Given the description of an element on the screen output the (x, y) to click on. 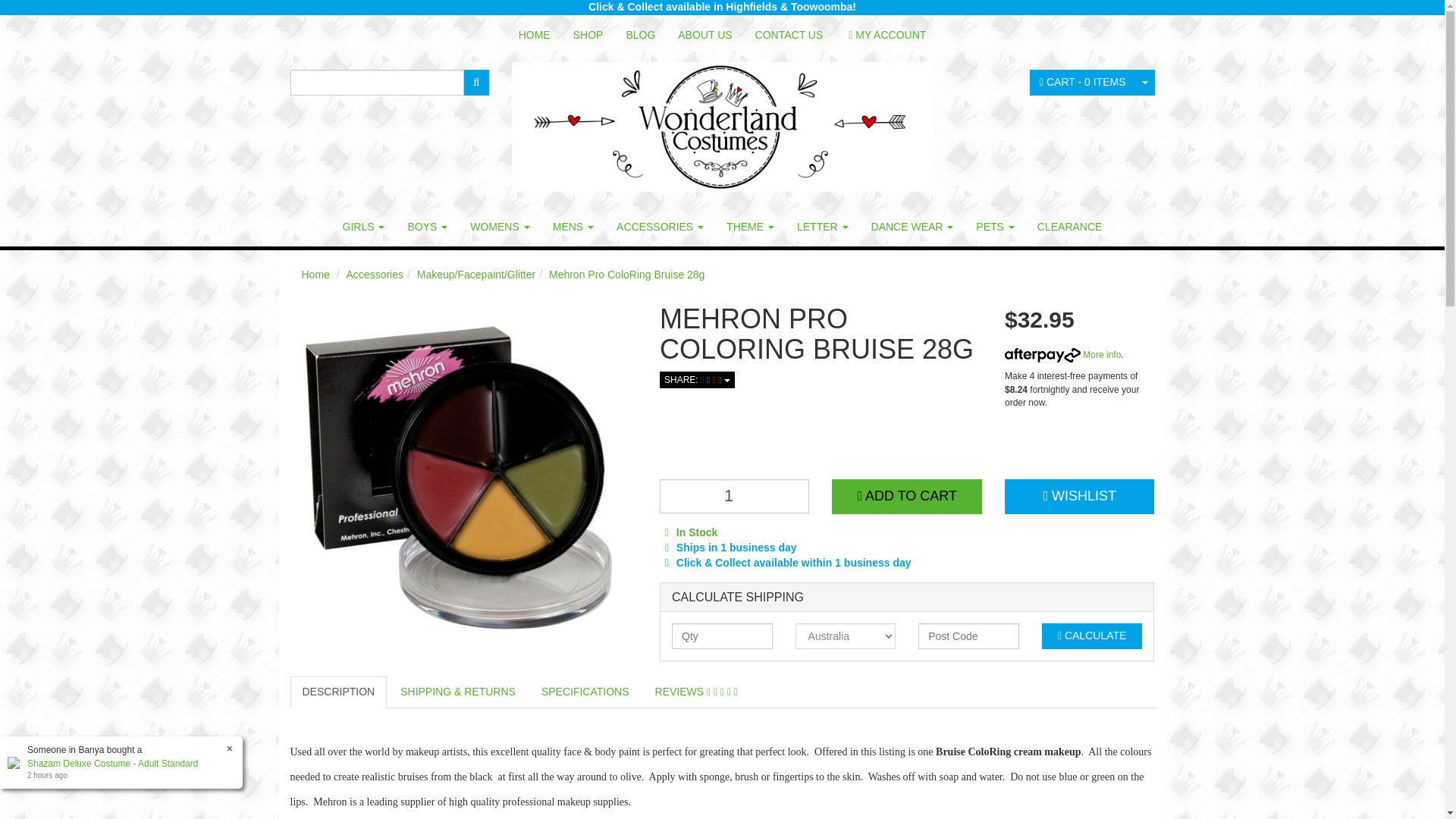
1 (734, 496)
ABOUT US (704, 34)
Wonderland Costumes (722, 121)
Add to Cart (906, 496)
CONTACT US (789, 34)
SHOP (588, 34)
MY ACCOUNT (887, 34)
HOME (534, 34)
GIRLS (363, 226)
CART - 0 ITEMS (1082, 82)
Calculate (1092, 636)
BLOG (640, 34)
Search (476, 82)
BOYS (427, 226)
